Given the description of an element on the screen output the (x, y) to click on. 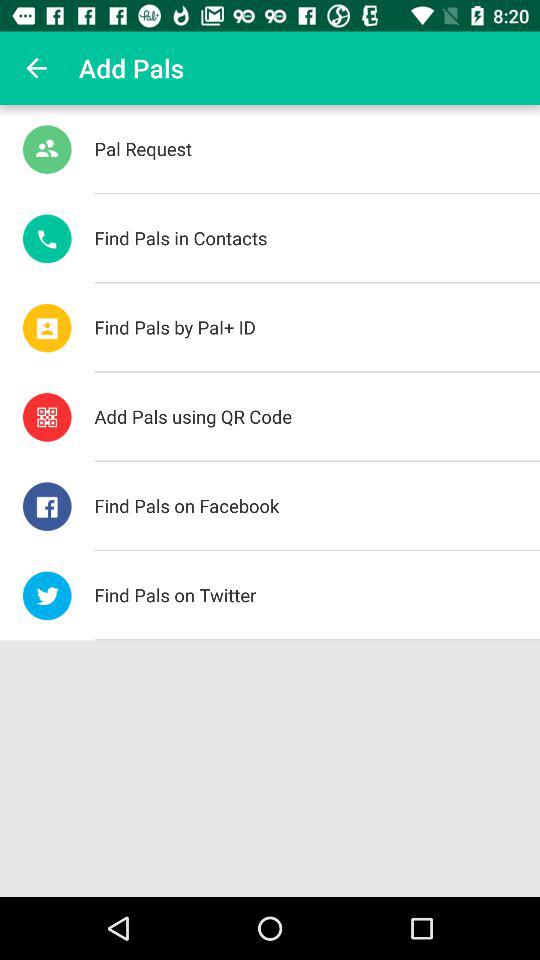
click icon next to the add pals icon (36, 68)
